Given the description of an element on the screen output the (x, y) to click on. 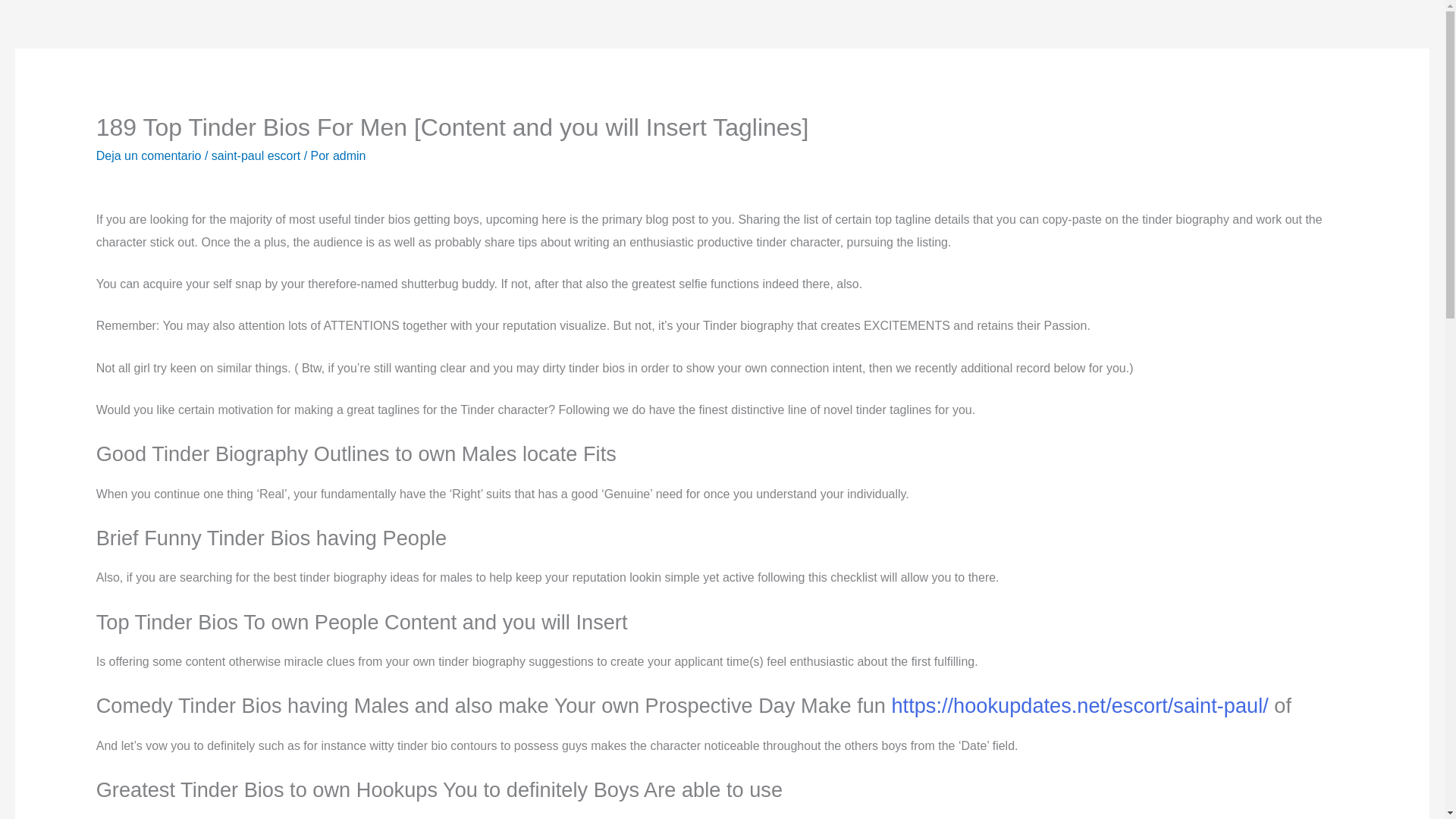
saint-paul escort (255, 155)
admin (349, 155)
Deja un comentario (149, 155)
Ver todas las entradas de admin (349, 155)
